Given the description of an element on the screen output the (x, y) to click on. 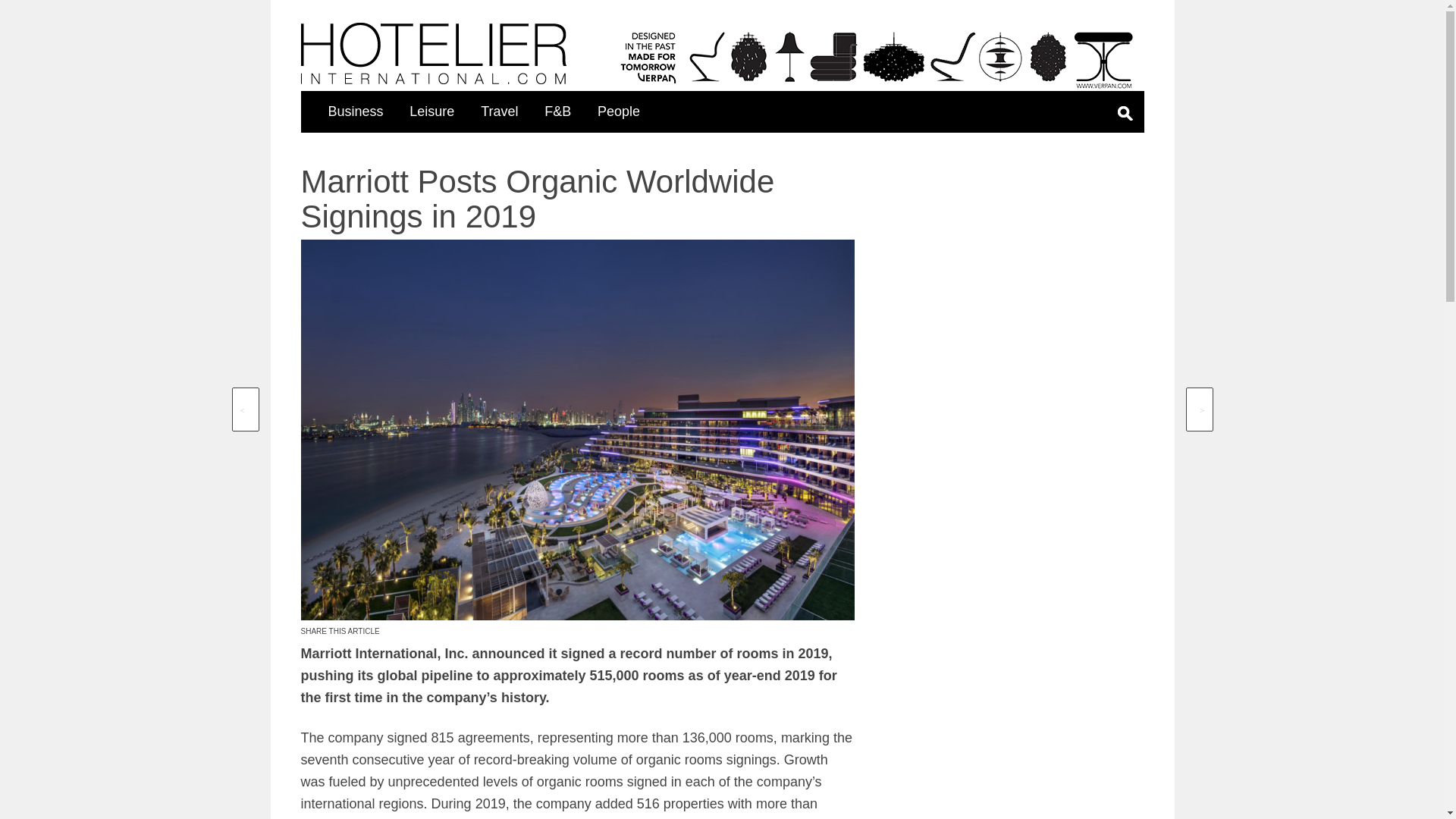
Hotelier International (432, 53)
Travel (498, 111)
Business (354, 111)
People (618, 111)
Leisure (431, 111)
Search (1052, 166)
